Given the description of an element on the screen output the (x, y) to click on. 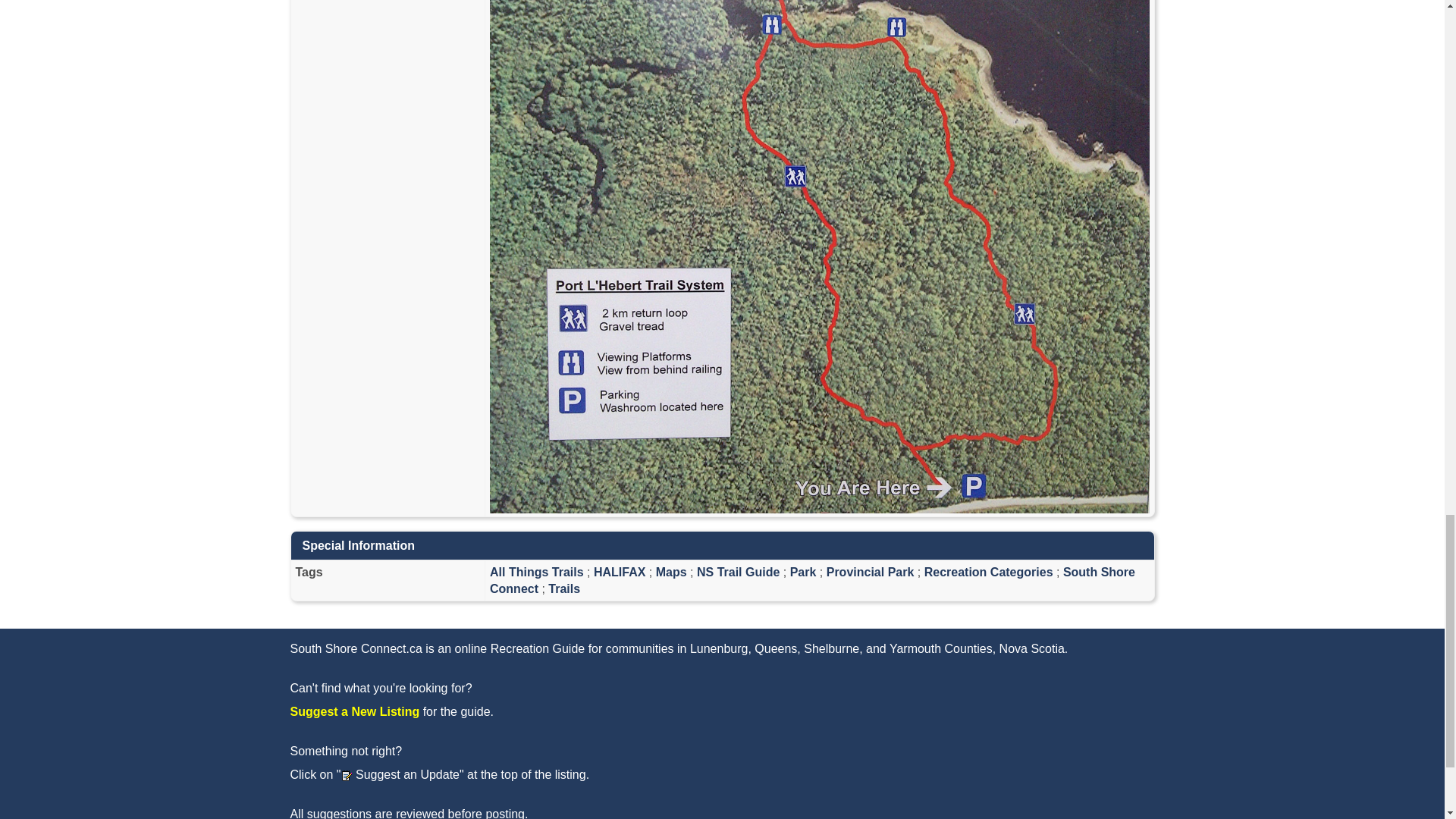
NS Trail Guide (737, 571)
Trails (563, 588)
All Things Trails (536, 571)
Recreation Categories (988, 571)
South Shore Connect (812, 580)
Suggest a New Listing (354, 711)
Provincial Park (870, 571)
Park (803, 571)
HALIFAX (619, 571)
Maps (671, 571)
